Given the description of an element on the screen output the (x, y) to click on. 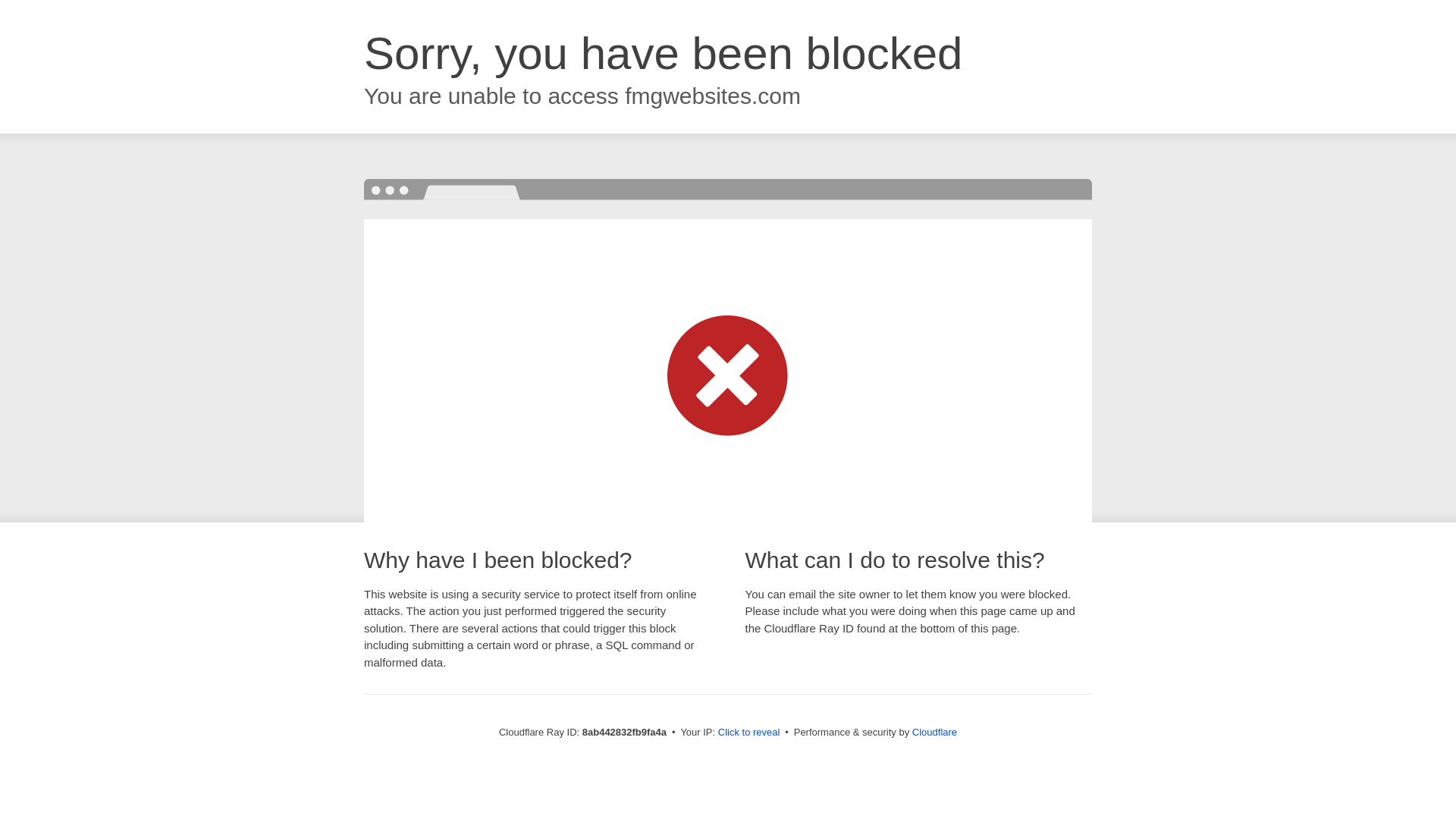
Cloudflare (934, 731)
Click to reveal (748, 732)
